Given the description of an element on the screen output the (x, y) to click on. 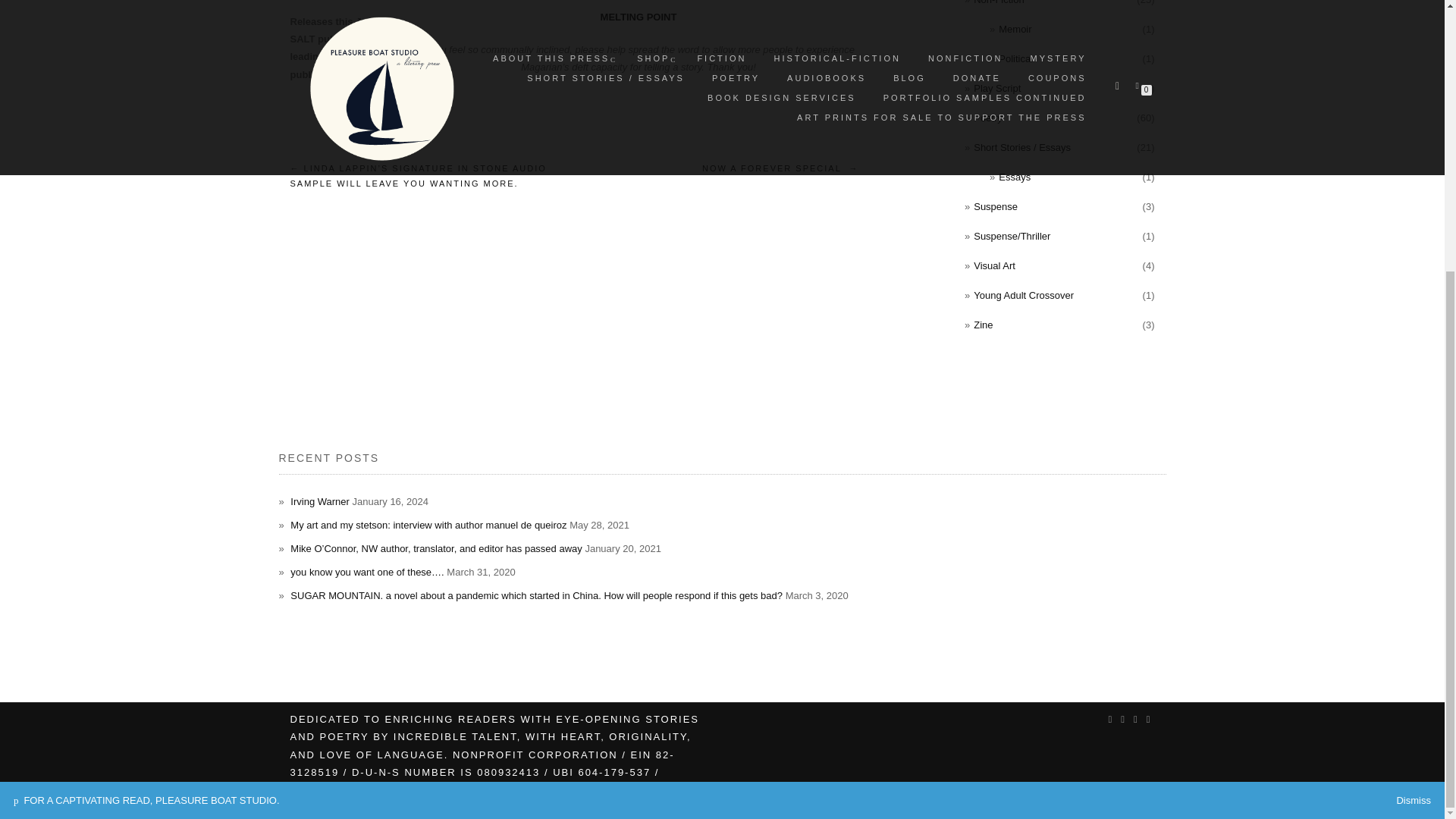
PayPal (1054, 393)
PayPal (1054, 429)
MELTING POINT (638, 16)
